Given the description of an element on the screen output the (x, y) to click on. 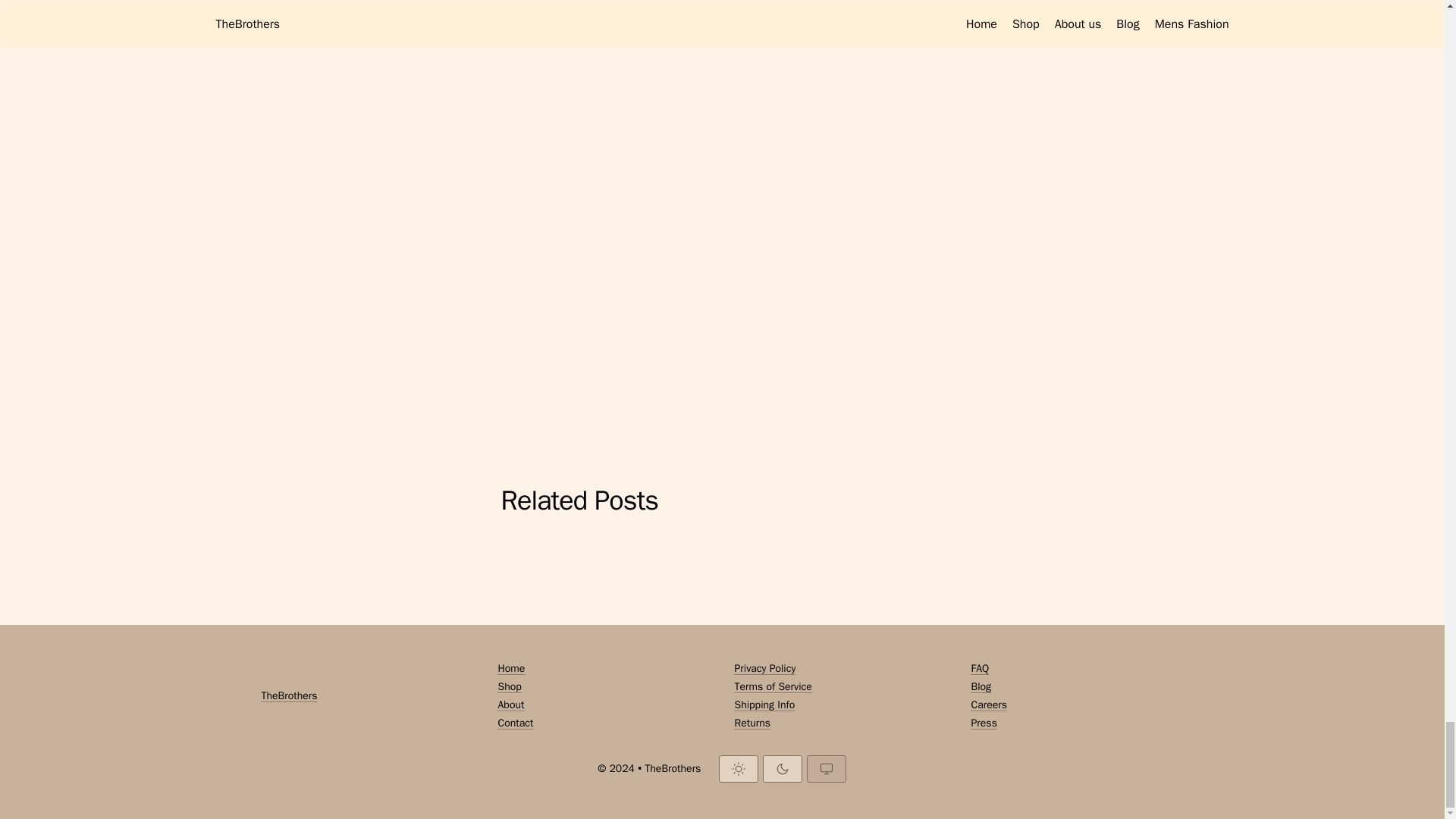
FAQ (1076, 668)
Returns (839, 723)
About (603, 704)
Shop (603, 686)
Press (1076, 723)
Contact (603, 723)
Blog (1076, 686)
Shipping Info (839, 704)
Terms of Service (839, 686)
Home (603, 668)
